Given the description of an element on the screen output the (x, y) to click on. 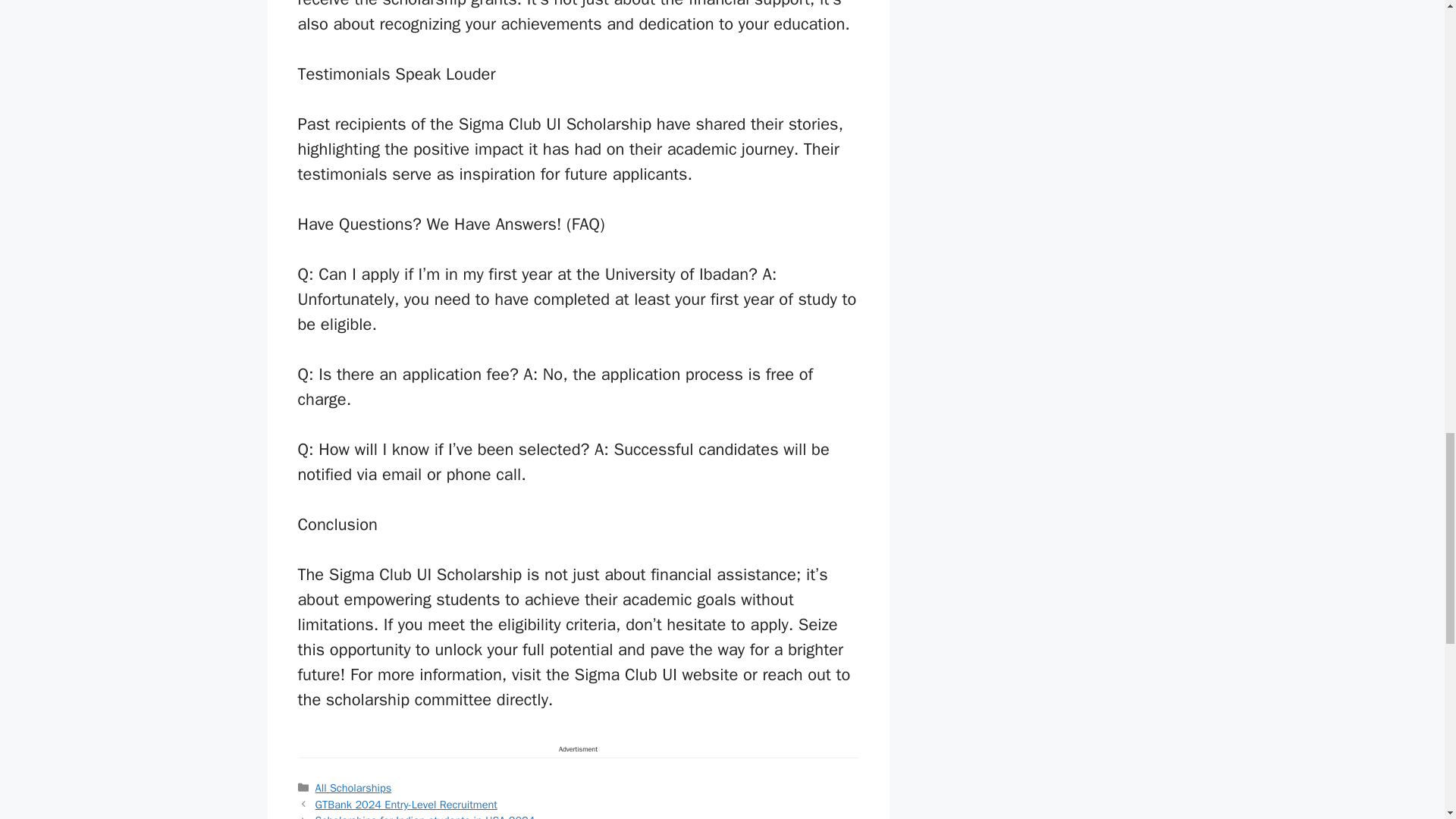
Scholarships for Indian students in USA 2024 (425, 816)
All Scholarships (353, 787)
GTBank 2024 Entry-Level Recruitment (406, 804)
